Given the description of an element on the screen output the (x, y) to click on. 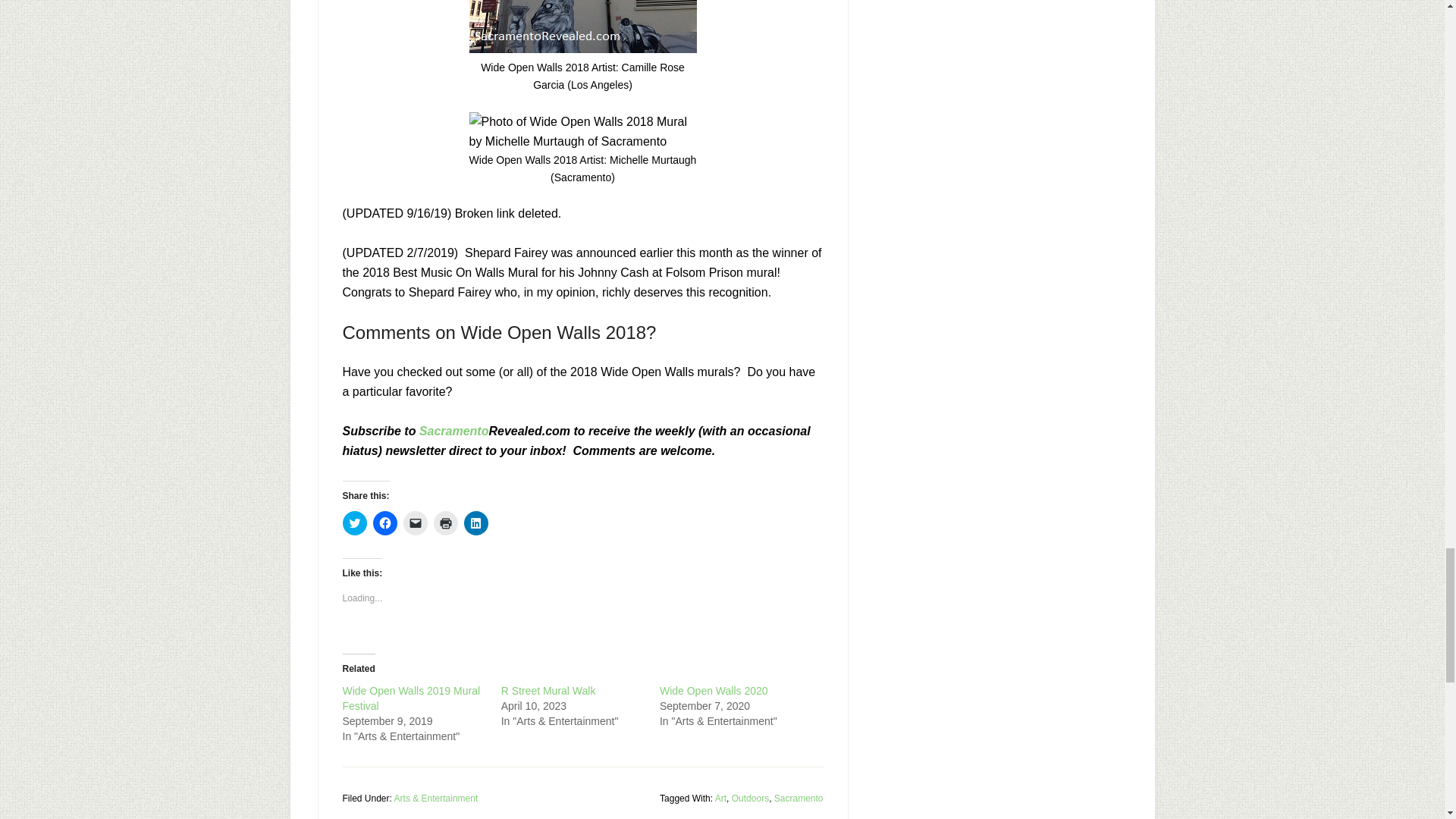
Click to print (445, 523)
Outdoors (750, 798)
Wide Open Walls 2020 (713, 690)
Wide Open Walls 2019 Mural Festival (411, 697)
R Street Mural Walk (547, 690)
Wide Open Walls 2019 Mural Festival (411, 697)
Sacramento (454, 431)
Sacramento (799, 798)
Click to share on Twitter (354, 523)
Wide Open Walls 2020 (713, 690)
